Given the description of an element on the screen output the (x, y) to click on. 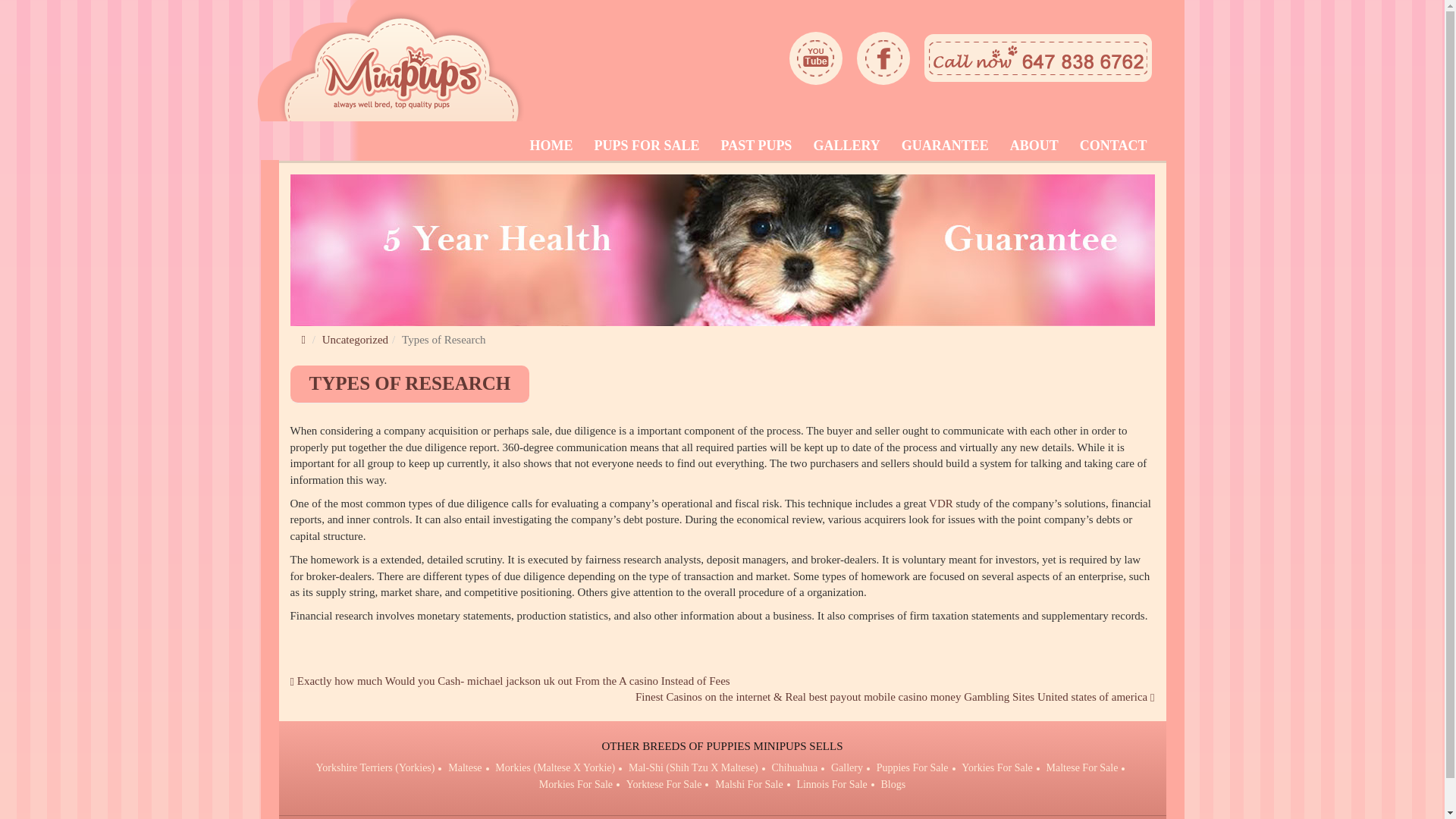
Pups For Sale (646, 145)
Linnois For Sale (831, 784)
Maltese For Sale (1082, 767)
YouTube (816, 58)
Past Pups (756, 145)
PAST PUPS (756, 145)
Gallery (847, 767)
Morkies For Sale (575, 784)
Gallery (845, 145)
HOME (550, 145)
PUPS FOR SALE (646, 145)
CONTACT (1112, 145)
Home (550, 145)
GUARANTEE (944, 145)
ABOUT (1034, 145)
